Given the description of an element on the screen output the (x, y) to click on. 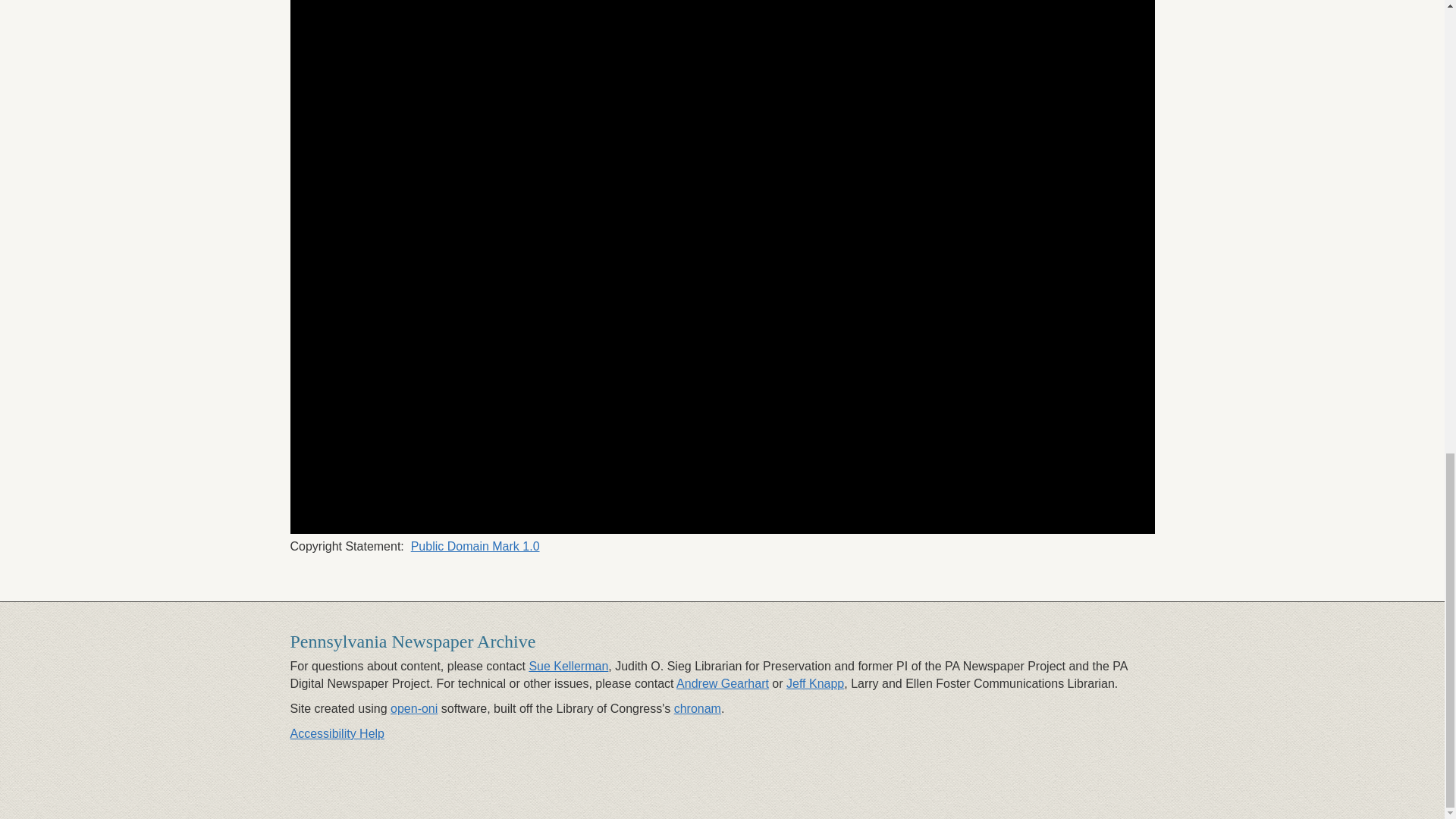
open-oni (414, 707)
Public Domain Mark 1.0 (475, 545)
Accessibility Help (336, 733)
Andrew Gearhart (722, 683)
Sue Kellerman (568, 666)
chronam (697, 707)
Jeff Knapp (815, 683)
